Given the description of an element on the screen output the (x, y) to click on. 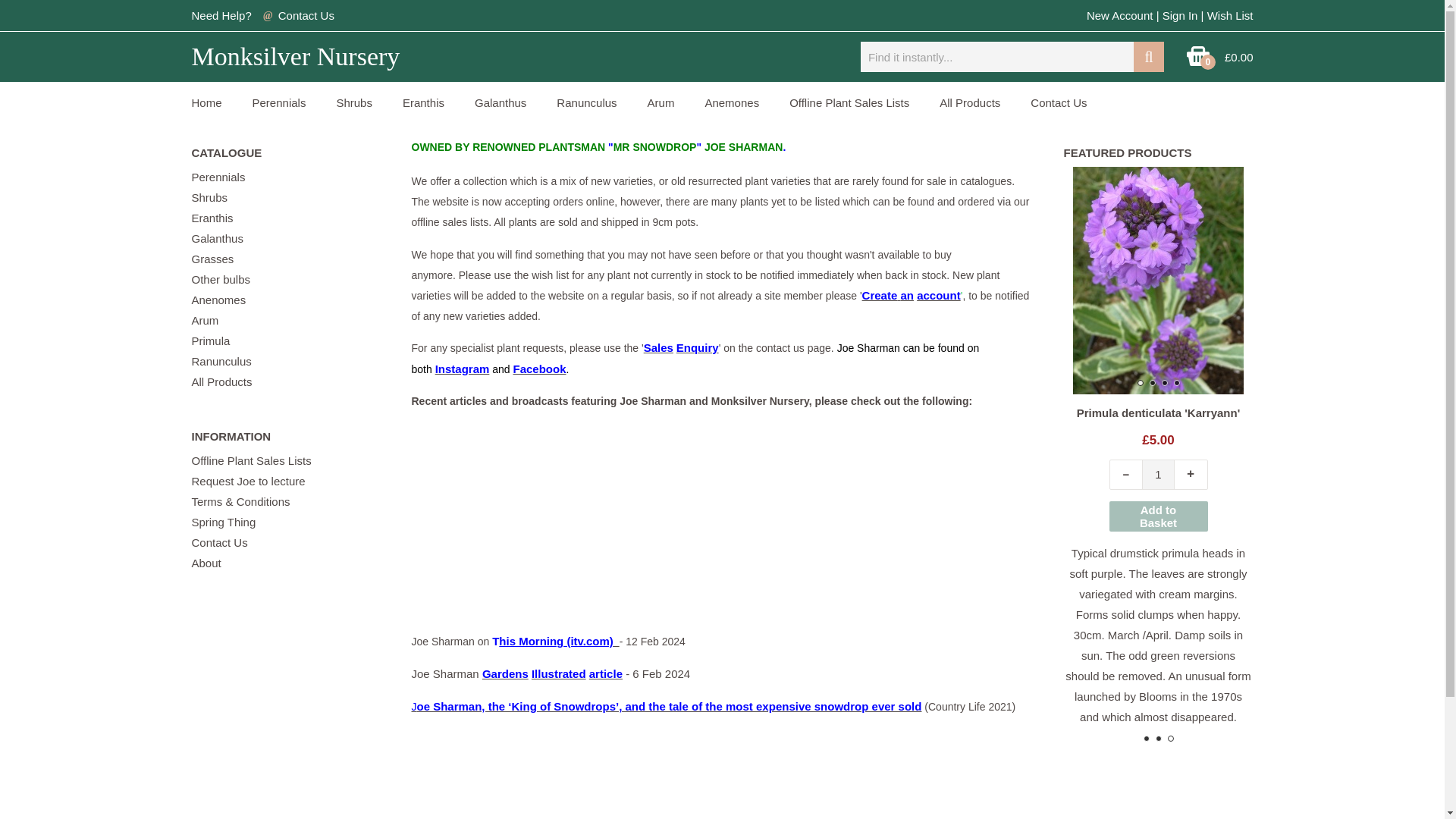
Request Joe to lecture (247, 481)
1 (1157, 474)
All Products (220, 381)
Home (205, 102)
Sign In (1179, 15)
0 (1197, 62)
Galanthus (216, 237)
Go (1148, 56)
Offline Plant Sales Lists (849, 102)
Galanthus (500, 102)
Ranunculus (586, 102)
1 (1362, 474)
Arum (660, 102)
Offline Plant Sales Lists (250, 460)
an (906, 295)
